Given the description of an element on the screen output the (x, y) to click on. 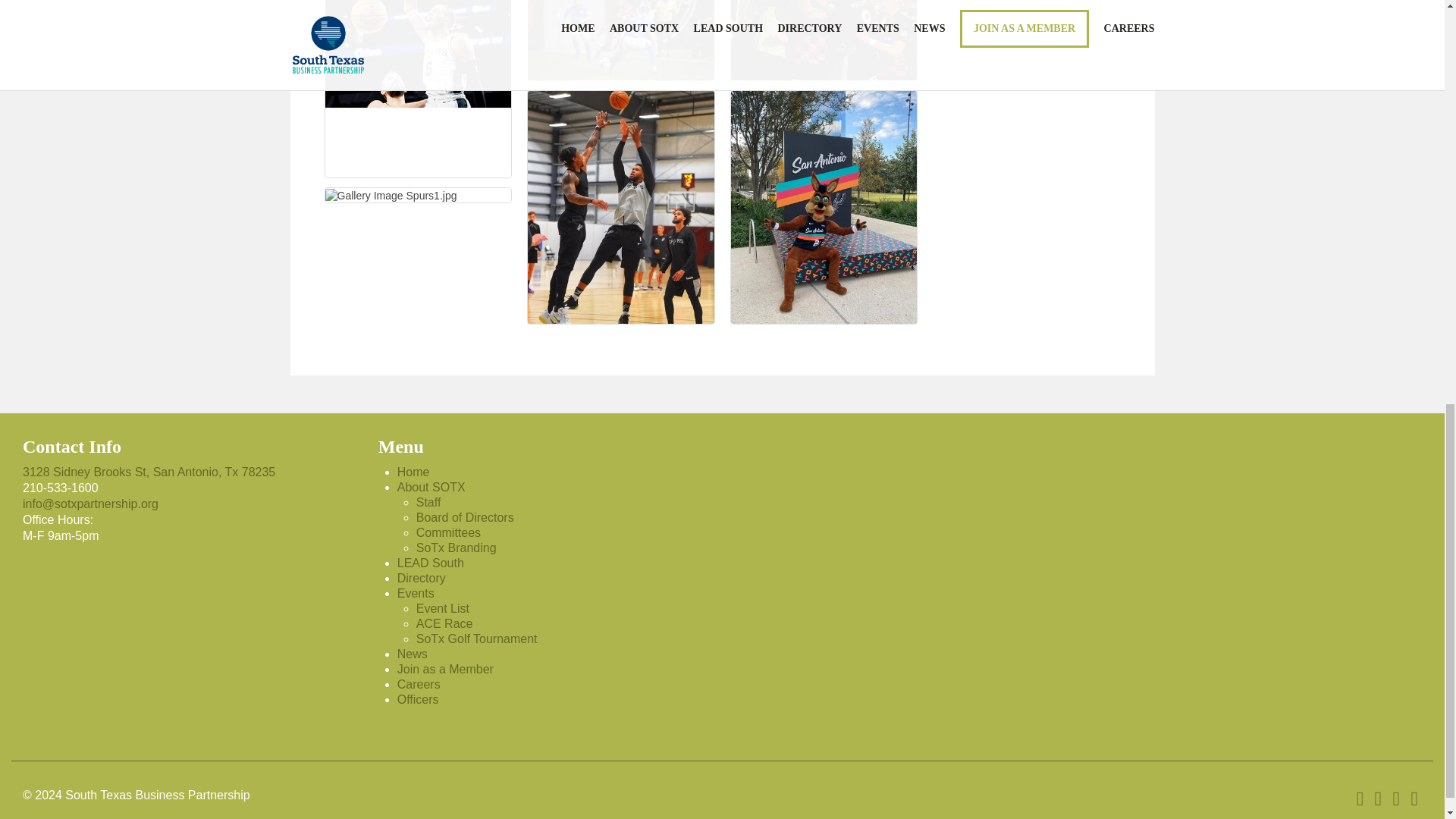
Gallery Image Spurs1.jpg (390, 195)
Gallery Image Spurs2.jpg (417, 88)
